Given the description of an element on the screen output the (x, y) to click on. 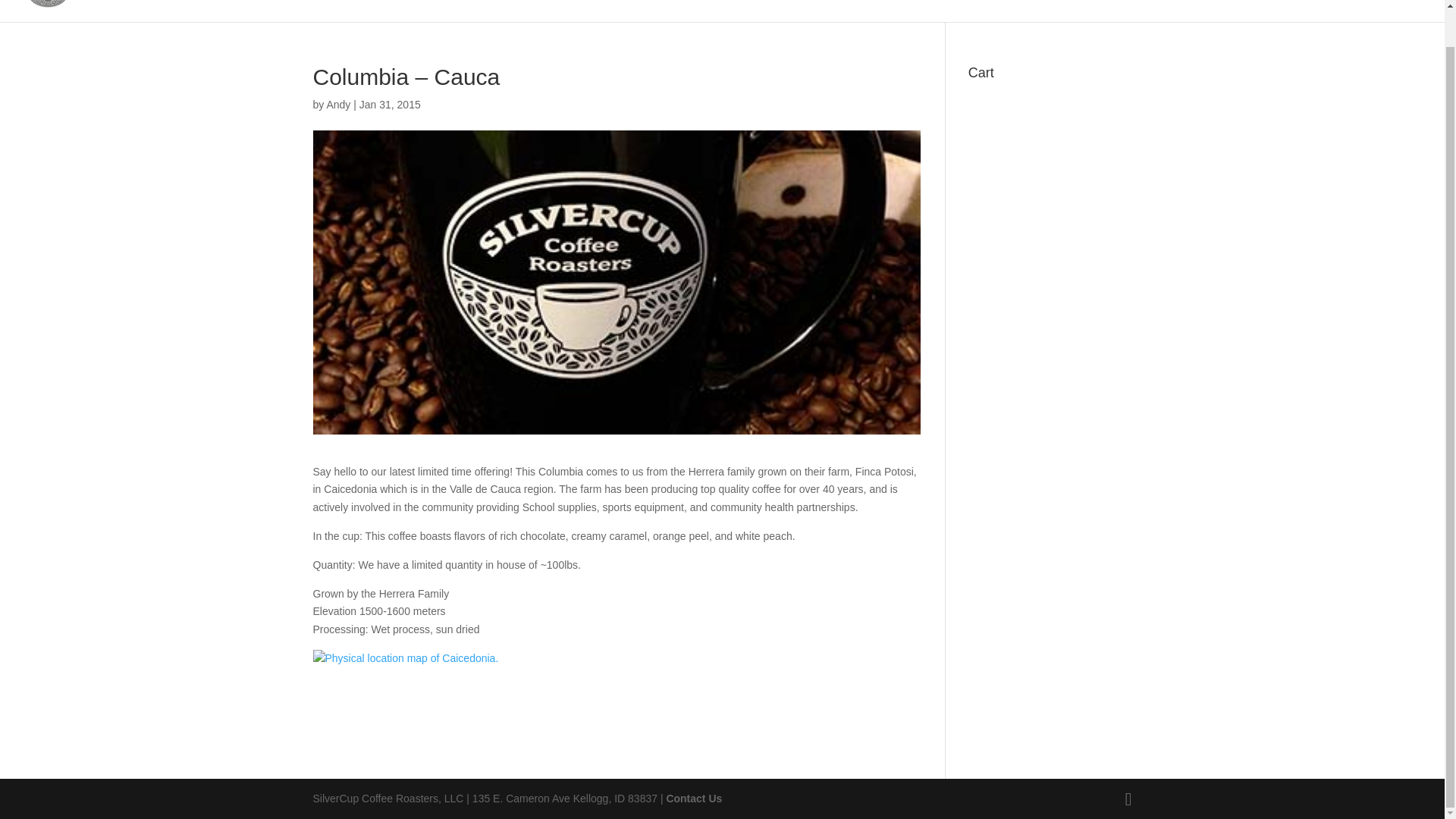
Blog (1179, 11)
Wholesale (1304, 11)
Home (1133, 11)
Posts by Andy (338, 104)
Andy (338, 104)
Shop (1370, 11)
Contact Us (693, 798)
About Us (1234, 11)
